Given the description of an element on the screen output the (x, y) to click on. 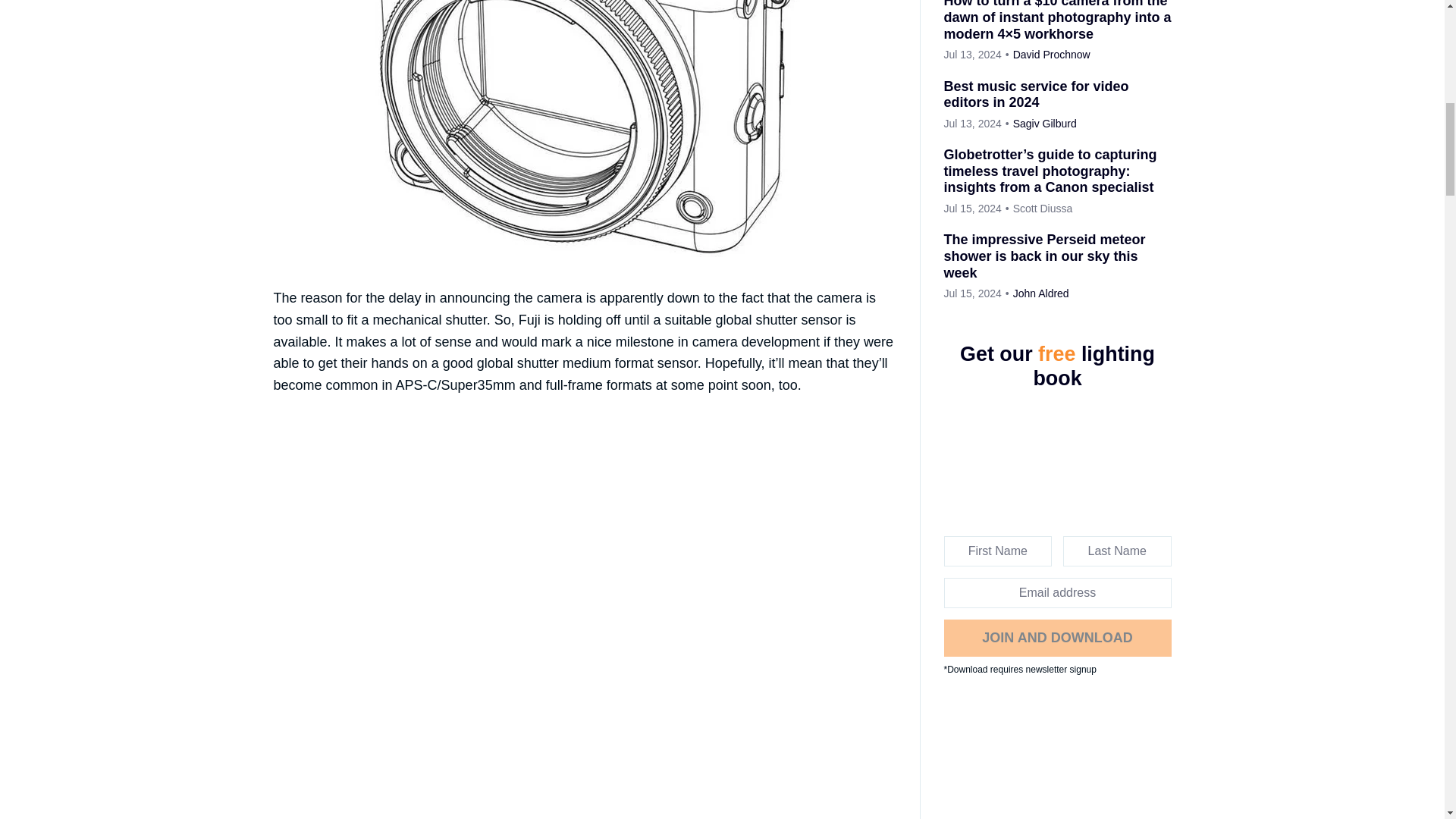
Join and Download (1056, 637)
